Given the description of an element on the screen output the (x, y) to click on. 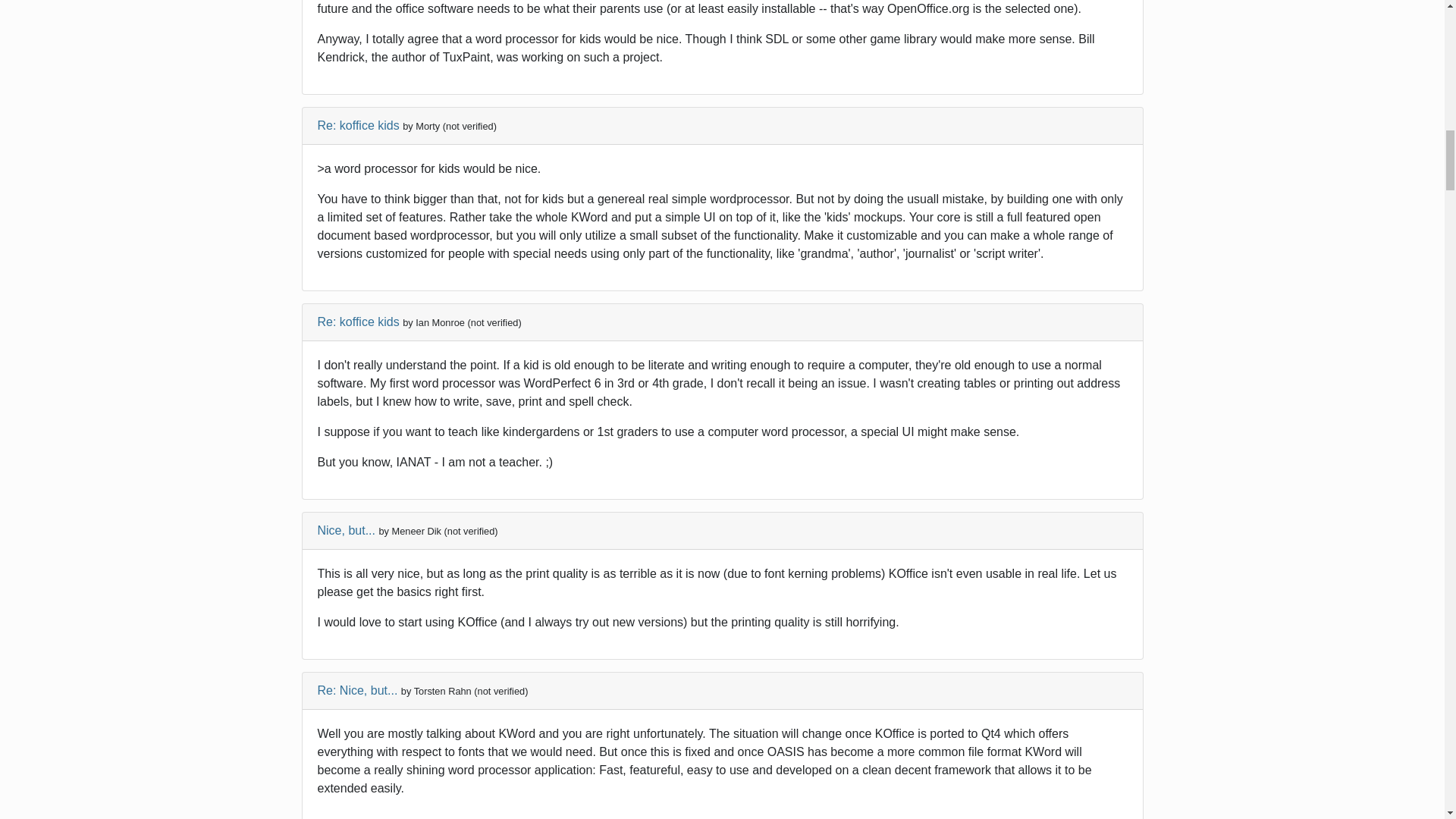
Nice, but... (345, 530)
Re: koffice kids (357, 321)
Re: Nice, but... (357, 689)
Re: koffice kids (357, 124)
